Given the description of an element on the screen output the (x, y) to click on. 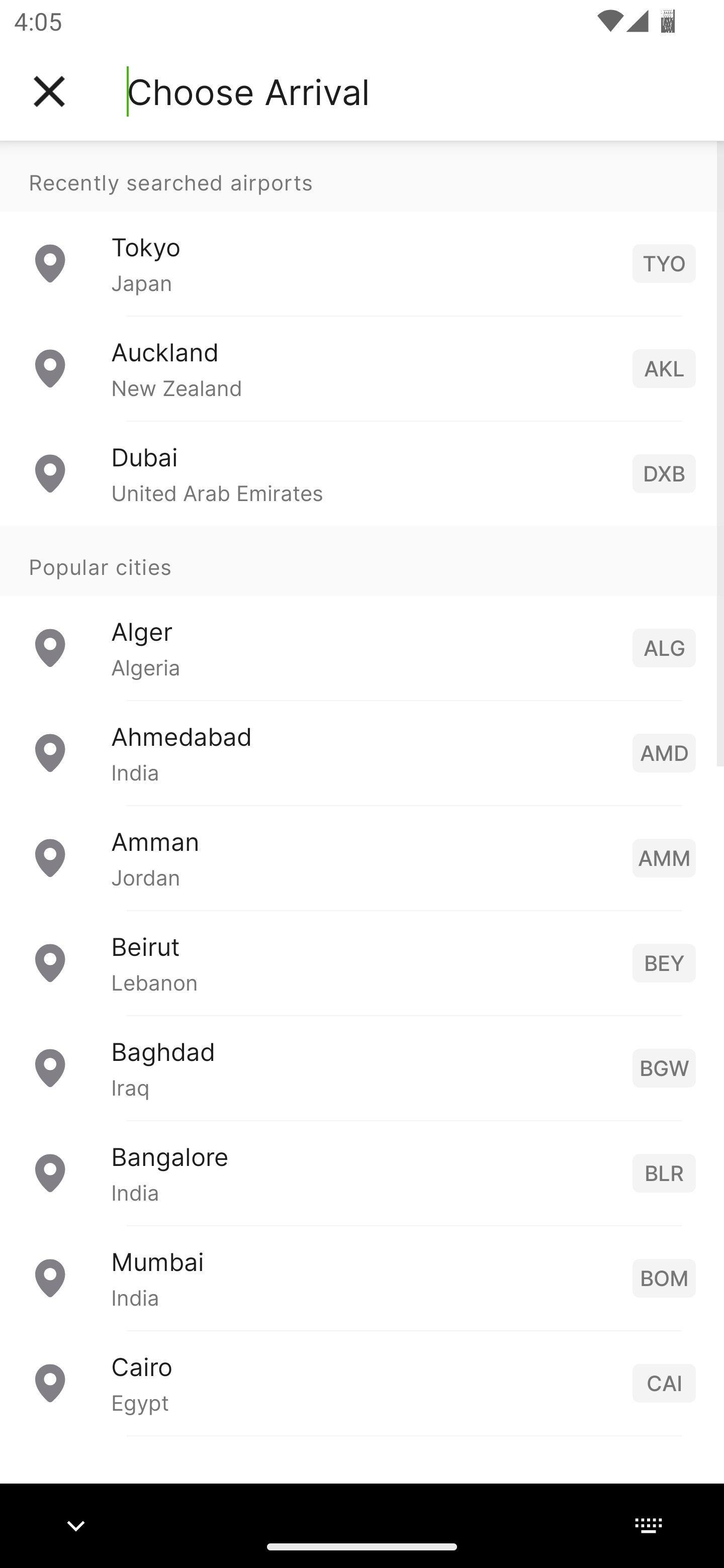
Choose Arrival (247, 91)
Recently searched airports Tokyo Japan TYO (362, 228)
Recently searched airports (362, 176)
Auckland New Zealand AKL (362, 367)
Dubai United Arab Emirates DXB (362, 472)
Popular cities Alger Algeria ALG (362, 612)
Popular cities (362, 560)
Ahmedabad India AMD (362, 751)
Amman Jordan AMM (362, 856)
Beirut Lebanon BEY (362, 961)
Baghdad Iraq BGW (362, 1066)
Bangalore India BLR (362, 1171)
Mumbai India BOM (362, 1276)
Cairo Egypt CAI (362, 1381)
